Given the description of an element on the screen output the (x, y) to click on. 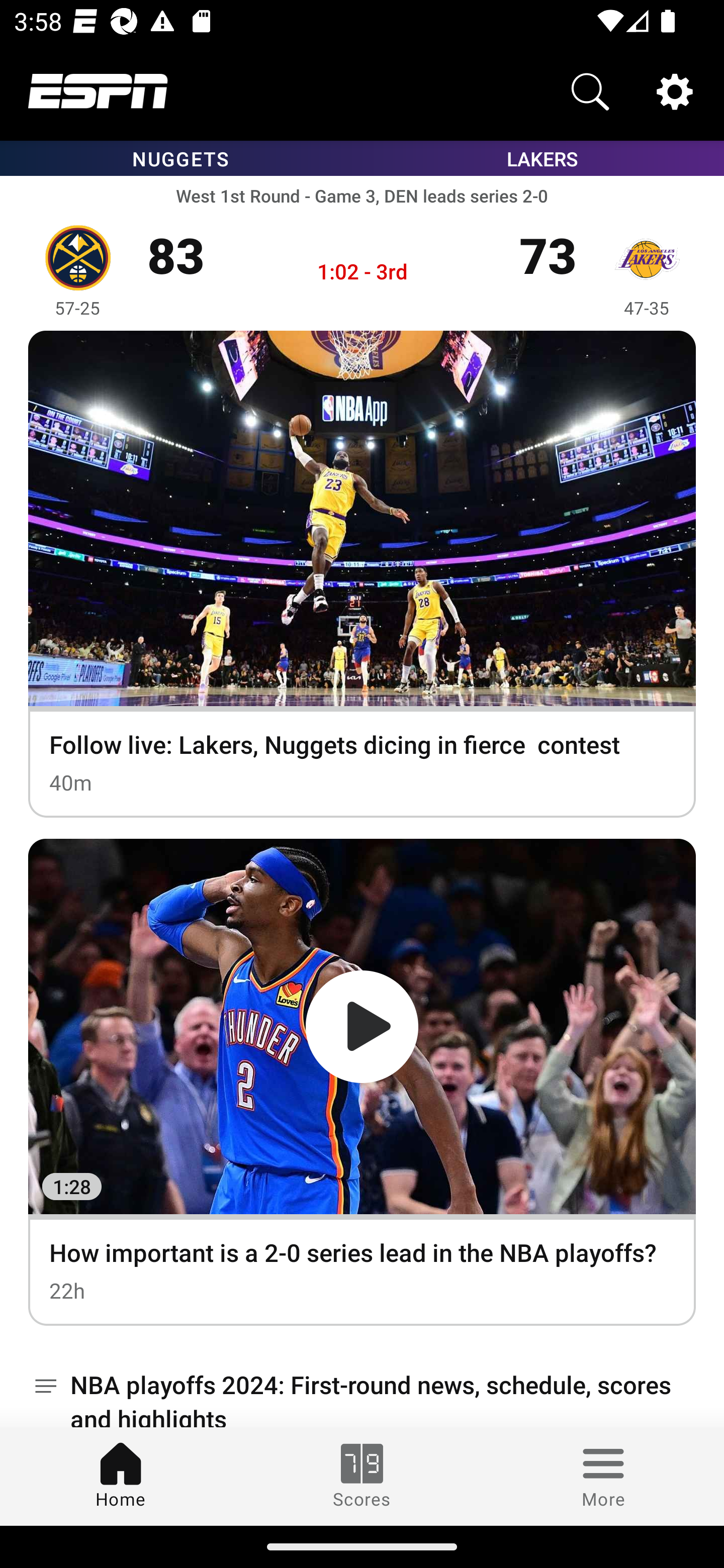
Search (590, 90)
Settings (674, 90)
Scores (361, 1475)
More (603, 1475)
